Given the description of an element on the screen output the (x, y) to click on. 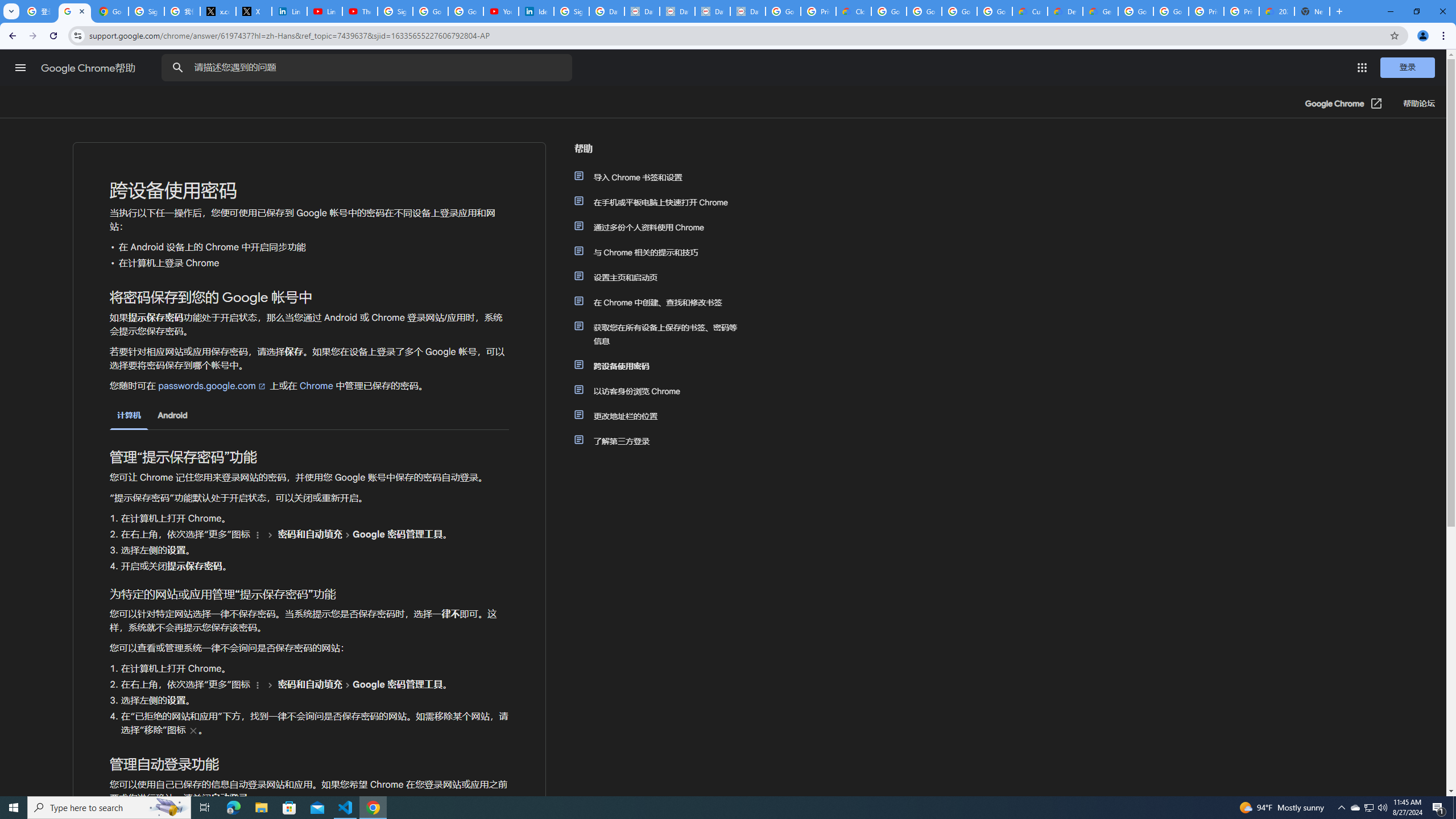
passwords.google.com (212, 385)
New Tab (1312, 11)
Data Privacy Framework (712, 11)
